Given the description of an element on the screen output the (x, y) to click on. 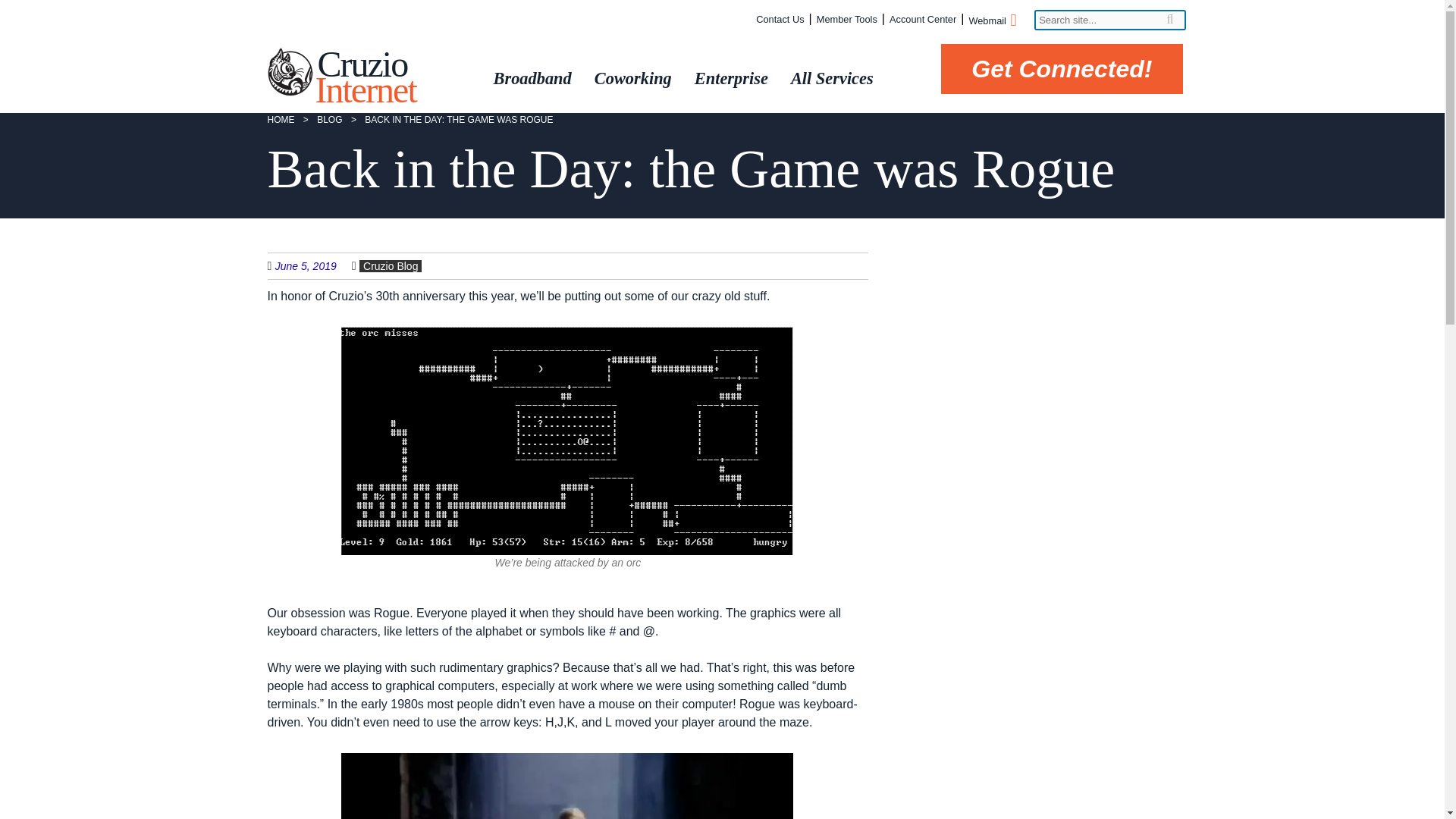
All Services (828, 78)
Get Connected! (1061, 69)
BLOG (329, 119)
Cruzio Internet (365, 76)
Skip to content (517, 64)
Enterprise (727, 78)
Contact Us (779, 20)
Skip to content (517, 64)
Account Center (922, 20)
Coworking (629, 78)
Cruzio Blog (390, 265)
Webmail (991, 21)
Member Tools (846, 20)
June 5, 2019 (313, 265)
Broadband (527, 78)
